Given the description of an element on the screen output the (x, y) to click on. 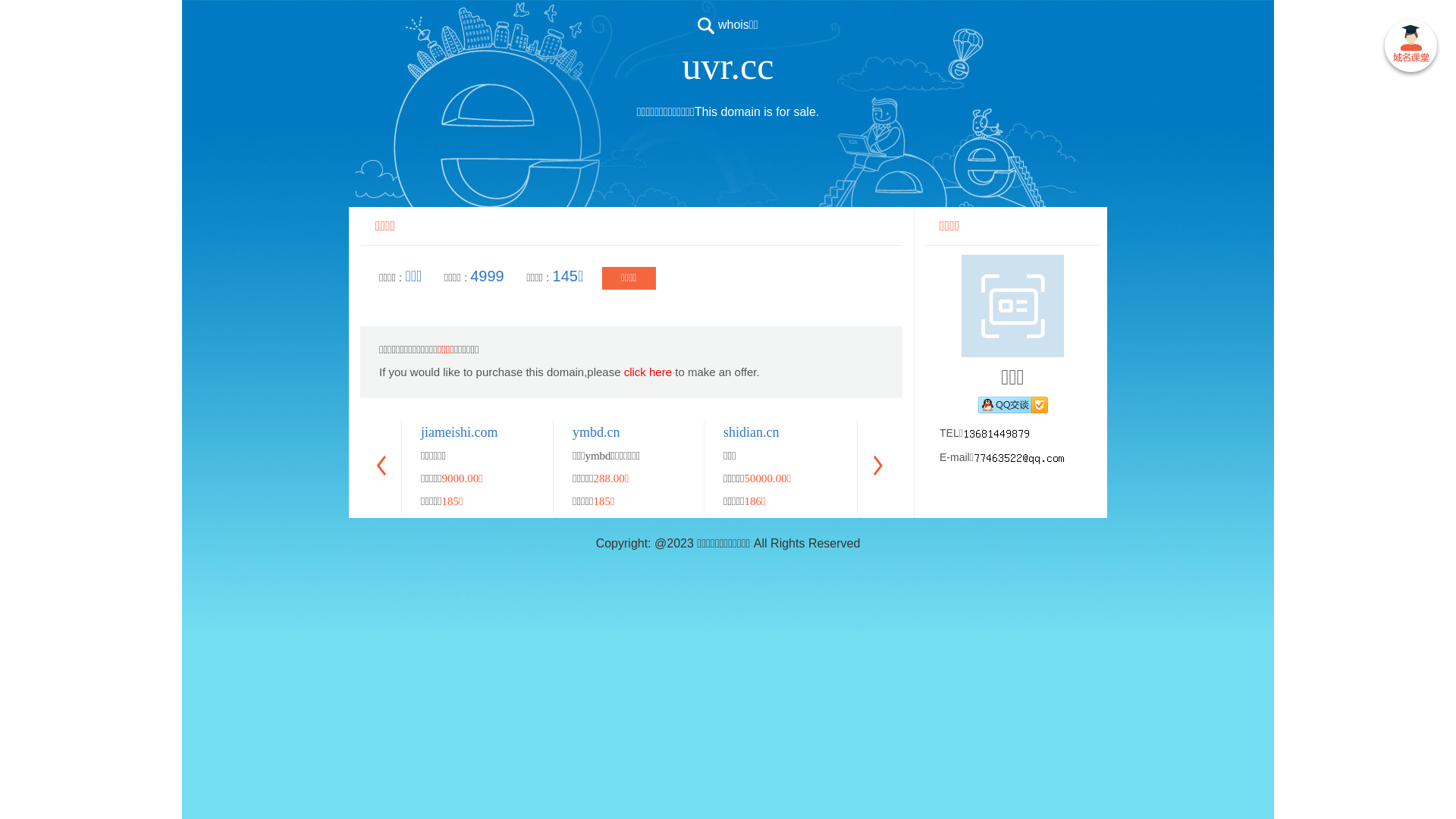
89m.cn Element type: text (1347, 431)
  Element type: text (1410, 48)
400635.com Element type: text (908, 431)
aifww.com Element type: text (1055, 431)
jiameishi.com Element type: text (458, 431)
ymbd.cn Element type: text (596, 431)
toa.com.cn Element type: text (1206, 431)
click here Element type: text (647, 371)
shidian.cn Element type: text (751, 431)
